Given the description of an element on the screen output the (x, y) to click on. 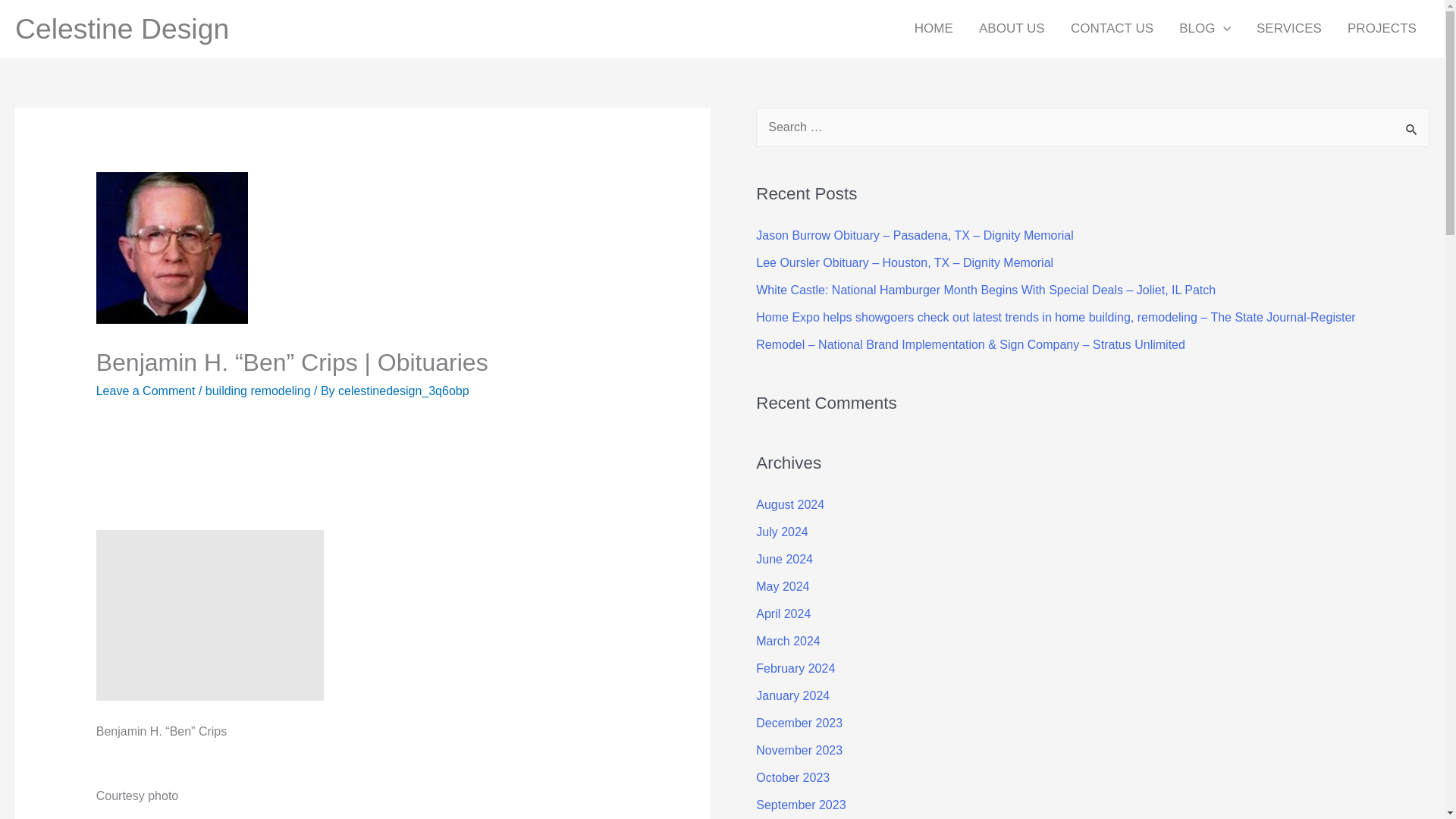
CONTACT US (1112, 28)
HOME (933, 28)
BLOG (1204, 28)
SERVICES (1289, 28)
PROJECTS (1382, 28)
Celestine Design (121, 29)
ABOUT US (1012, 28)
building remodeling (258, 390)
Leave a Comment (145, 390)
